Given the description of an element on the screen output the (x, y) to click on. 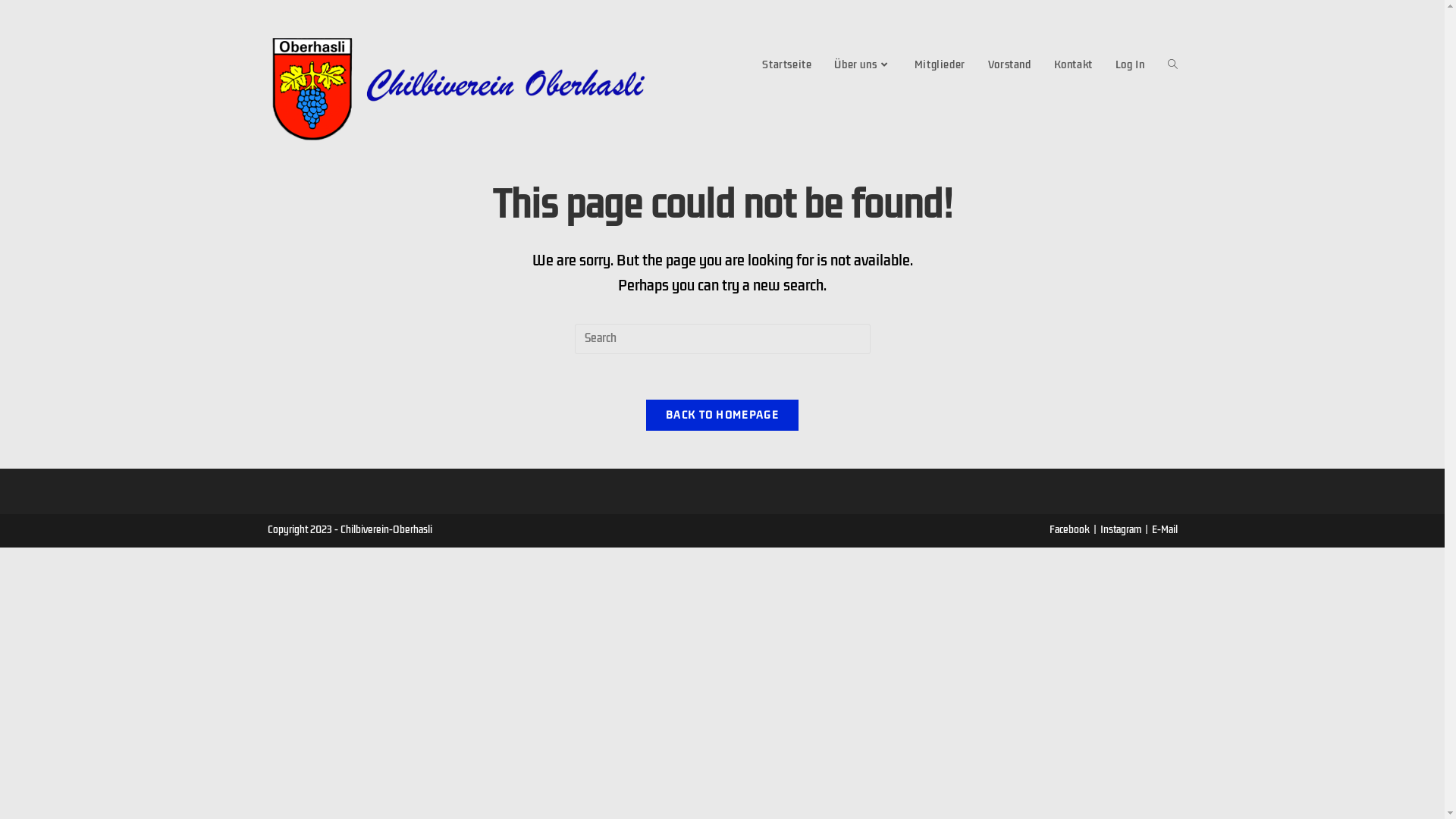
BACK TO HOMEPAGE Element type: text (722, 414)
E-Mail Element type: text (1163, 529)
Startseite Element type: text (786, 64)
Mitglieder Element type: text (939, 64)
Instagram Element type: text (1119, 529)
Vorstand Element type: text (1009, 64)
Toggle website search Element type: text (1171, 64)
Log In Element type: text (1130, 64)
Kontakt Element type: text (1073, 64)
Facebook Element type: text (1069, 529)
